Given the description of an element on the screen output the (x, y) to click on. 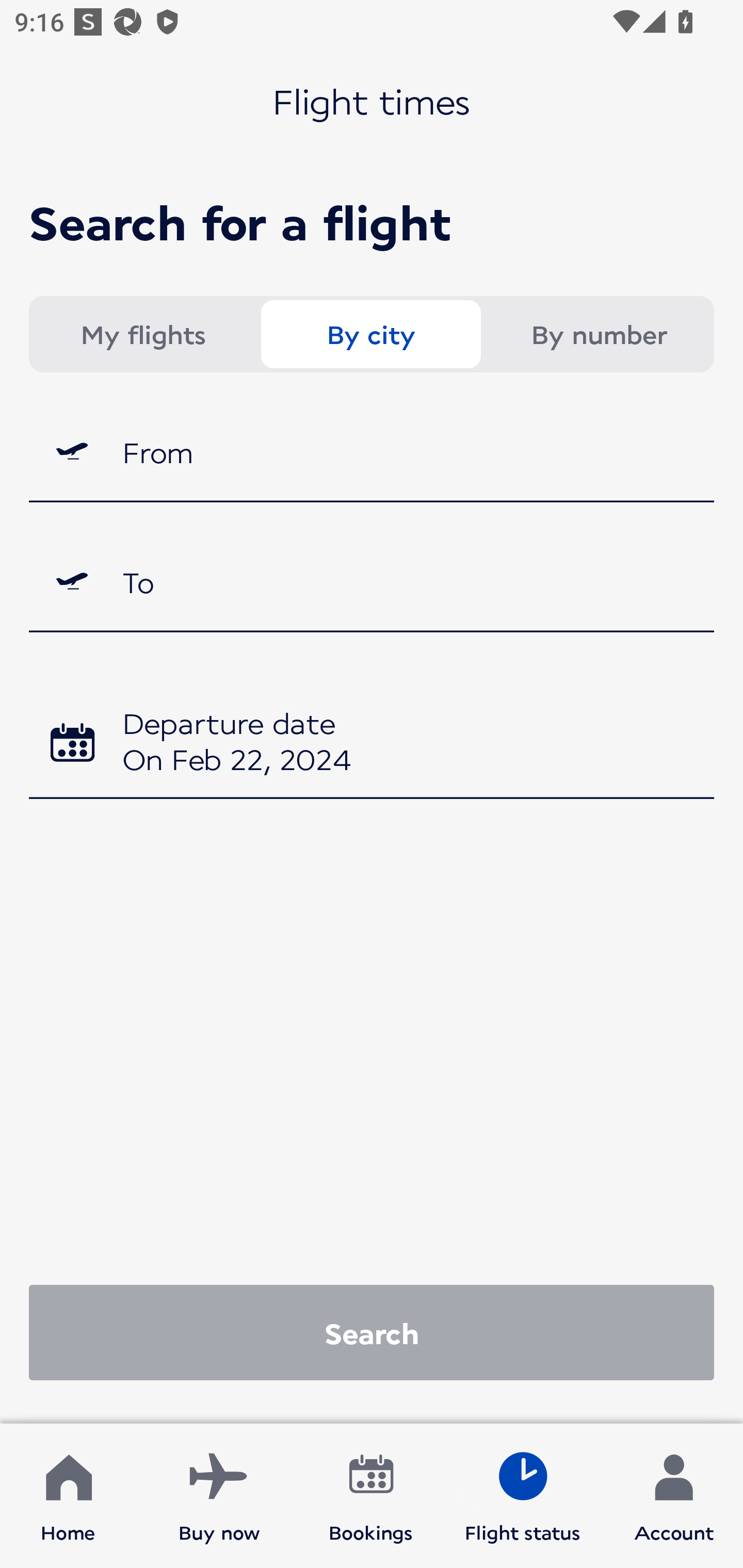
My flights (142, 334)
By city (370, 334)
By number (598, 334)
From (371, 451)
To (371, 581)
On Feb 22, 2024 Departure date (371, 744)
Search (371, 1331)
Home (68, 1495)
Buy now (219, 1495)
Bookings (370, 1495)
Account (674, 1495)
